Given the description of an element on the screen output the (x, y) to click on. 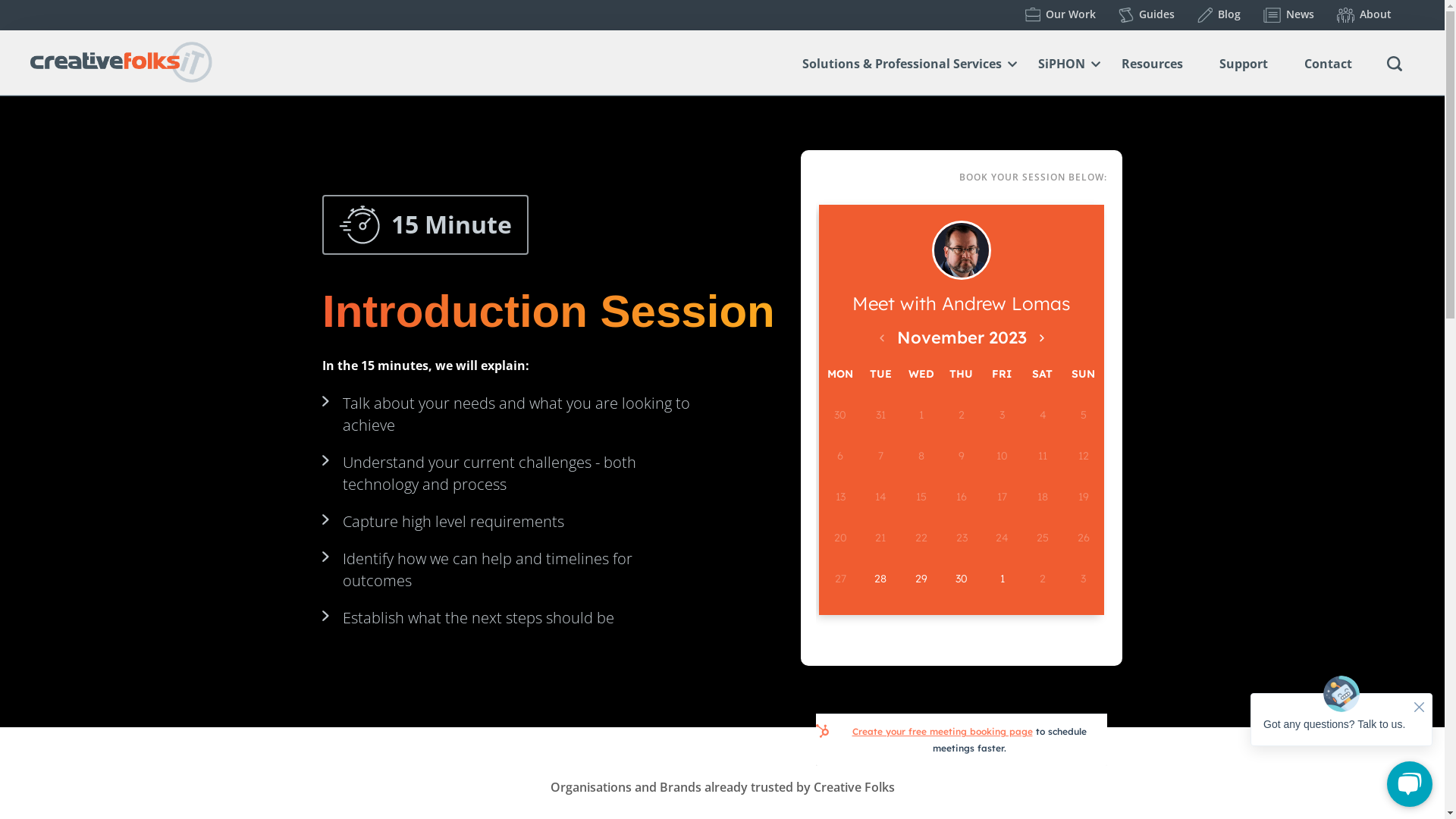
Contact Element type: text (1332, 67)
Resources Element type: text (1156, 67)
Solutions & Professional Services Element type: text (906, 67)
Guides Element type: text (1146, 15)
About Element type: text (1363, 15)
Creative Folks Element type: hover (121, 61)
Support Element type: text (1247, 67)
  Element type: text (1394, 64)
Our Work Element type: text (1060, 14)
Blog Element type: text (1219, 15)
SiPHON Element type: text (1065, 67)
News Element type: text (1288, 15)
